Given the description of an element on the screen output the (x, y) to click on. 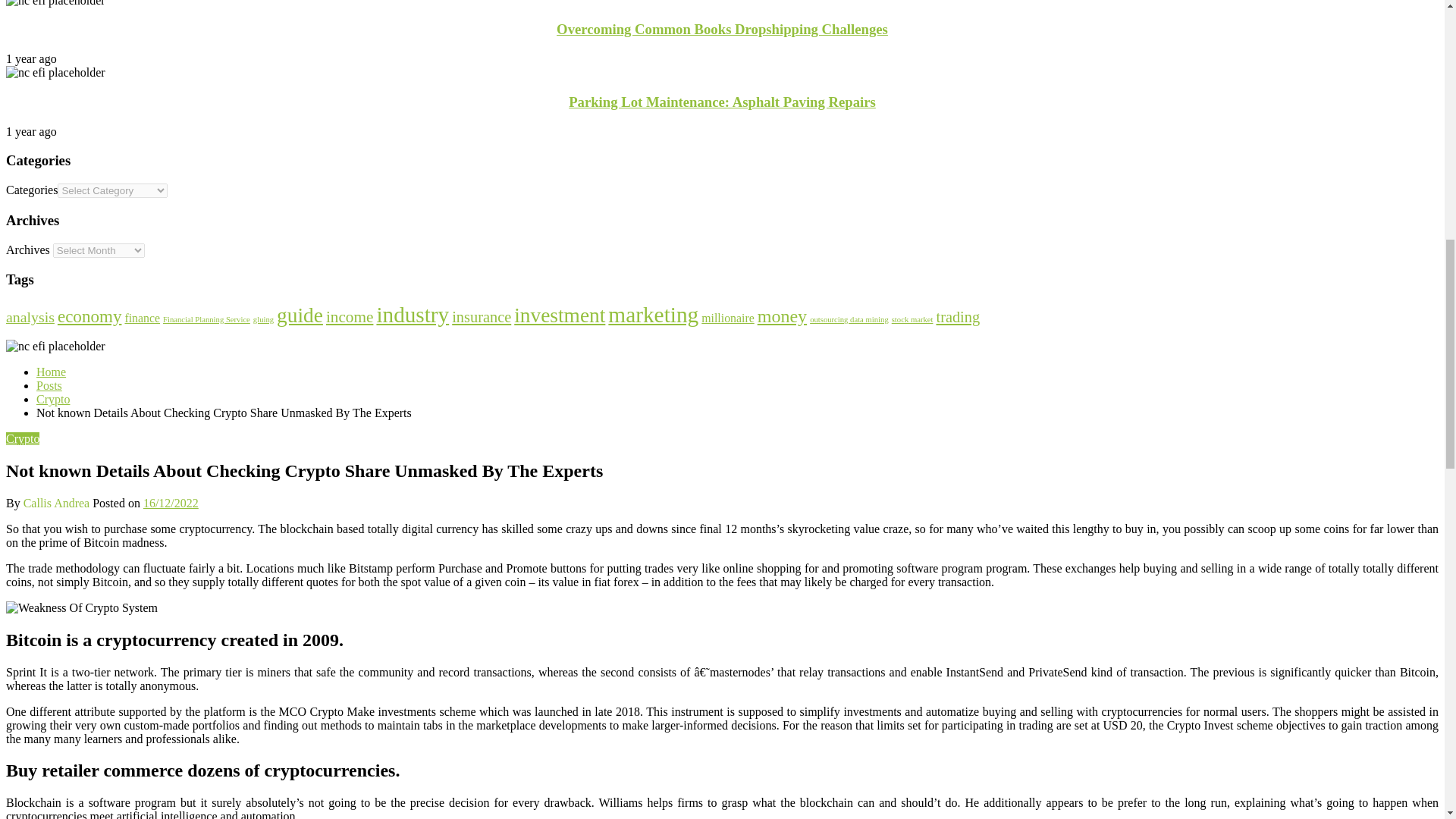
Overcoming Common Books Dropshipping Challenges (722, 28)
Parking Lot Maintenance: Asphalt Paving Repairs 5 (54, 72)
Home (50, 371)
Callis Andrea (58, 502)
Overcoming Common Books Dropshipping Challenges 4 (54, 3)
Financial Planning Service (206, 319)
analysis (30, 316)
Posts (49, 385)
